Given the description of an element on the screen output the (x, y) to click on. 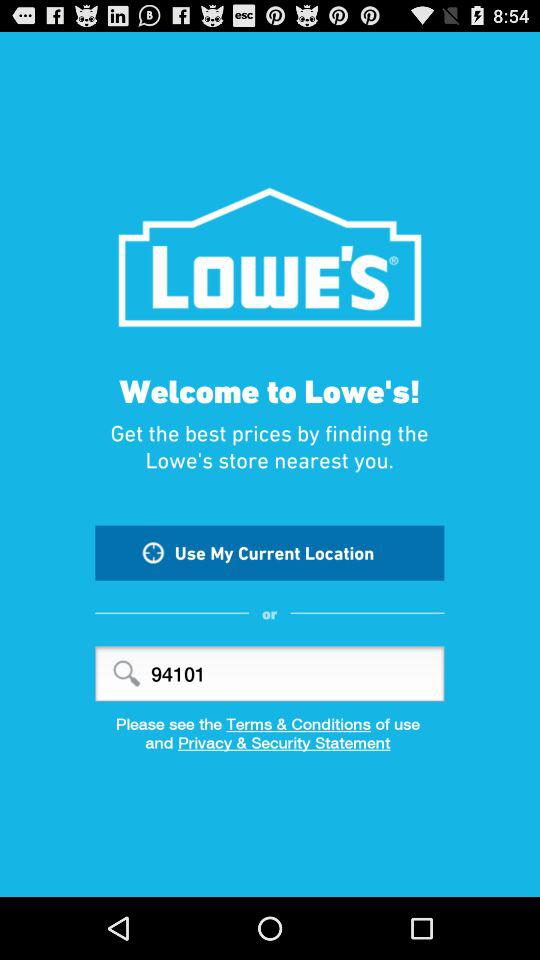
turn off the use my current (269, 552)
